Given the description of an element on the screen output the (x, y) to click on. 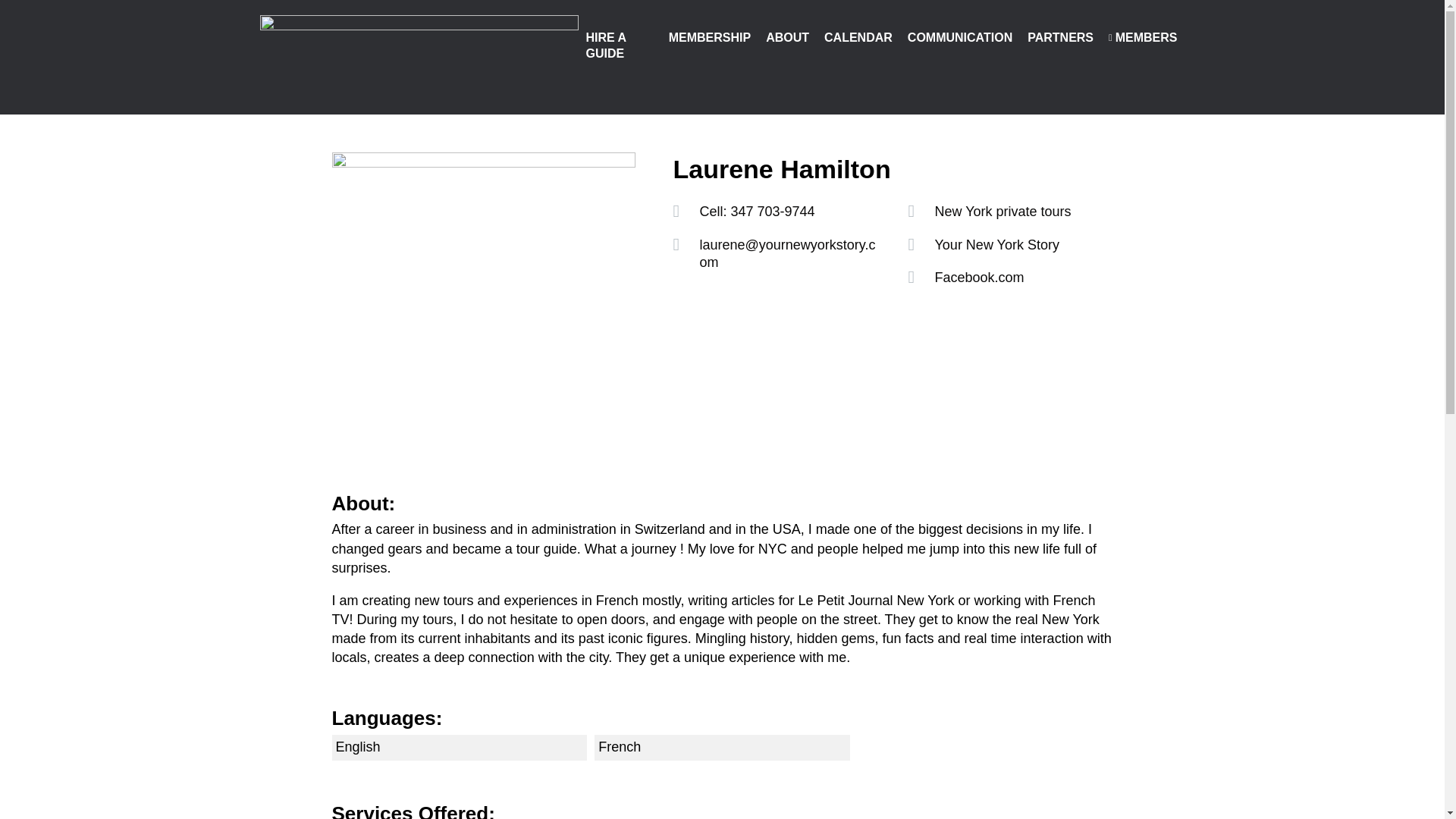
PARTNERS (1060, 37)
MEMBERS (1142, 37)
New York private tours (1002, 211)
Facebook.com (978, 277)
Your New York Story (996, 244)
MEMBERSHIP (709, 37)
CALENDAR (858, 37)
HIRE A GUIDE (618, 46)
ABOUT (787, 37)
COMMUNICATION (959, 37)
